Given the description of an element on the screen output the (x, y) to click on. 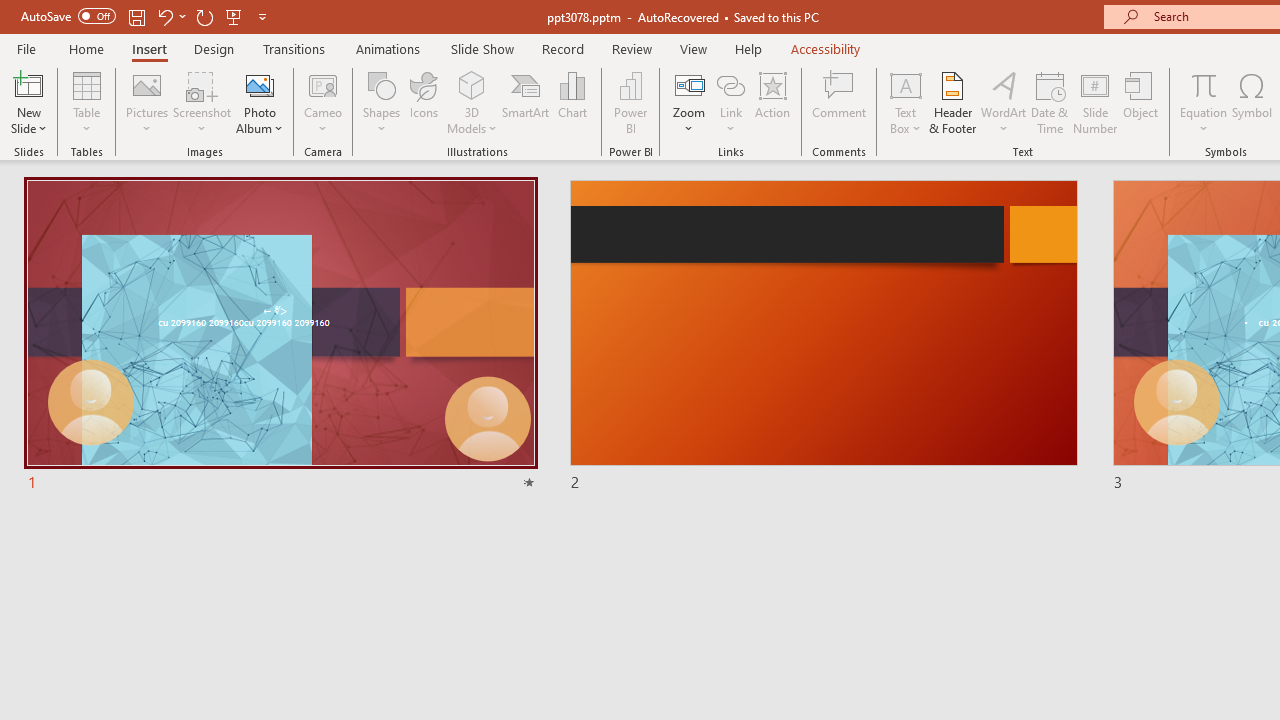
Photo Album... (259, 102)
SmartArt... (525, 102)
New Photo Album... (259, 84)
Table (86, 102)
Date & Time... (1050, 102)
Header & Footer... (952, 102)
